Given the description of an element on the screen output the (x, y) to click on. 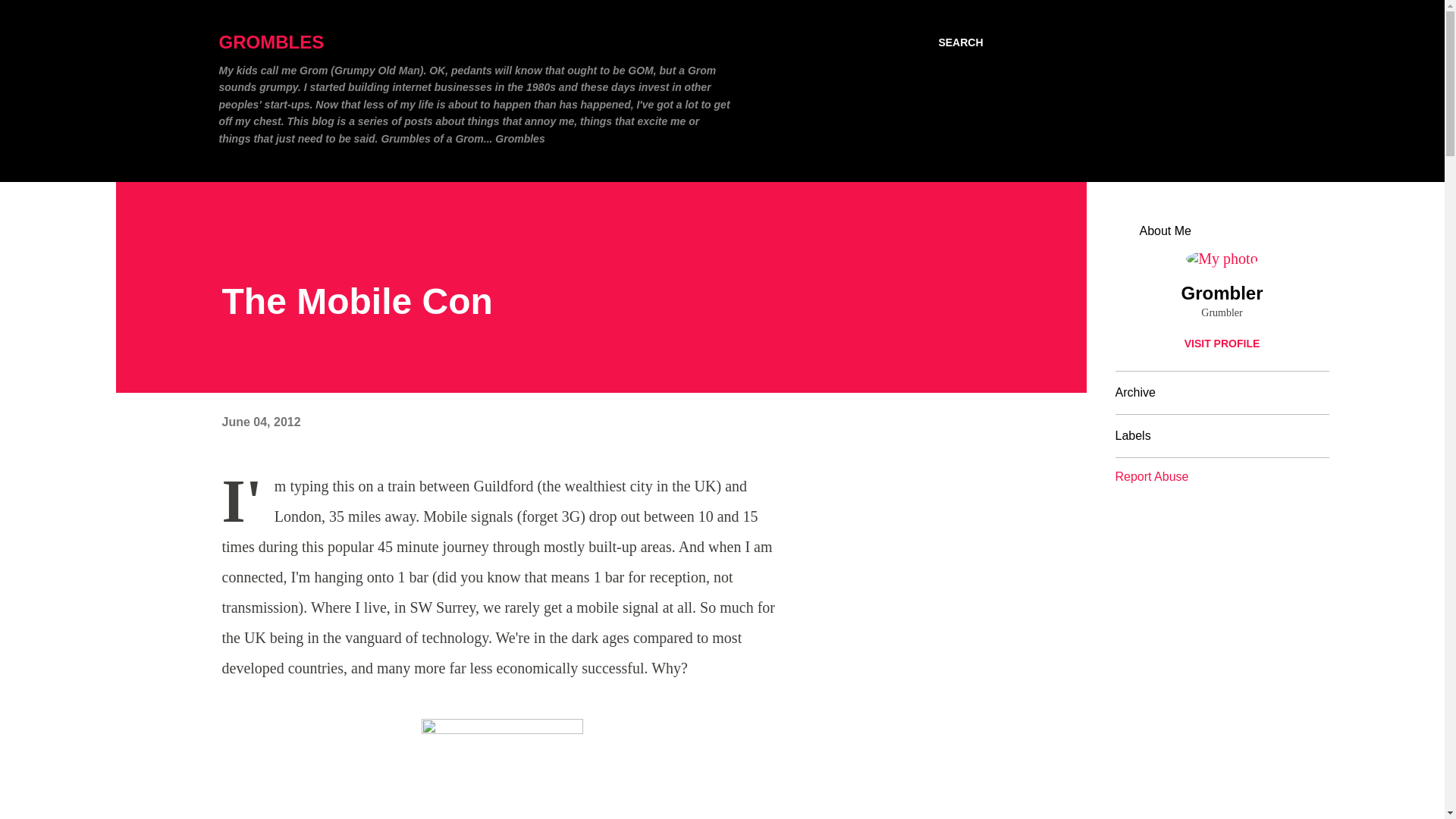
GROMBLES (270, 41)
permanent link (260, 421)
June 04, 2012 (260, 421)
SEARCH (959, 42)
